Given the description of an element on the screen output the (x, y) to click on. 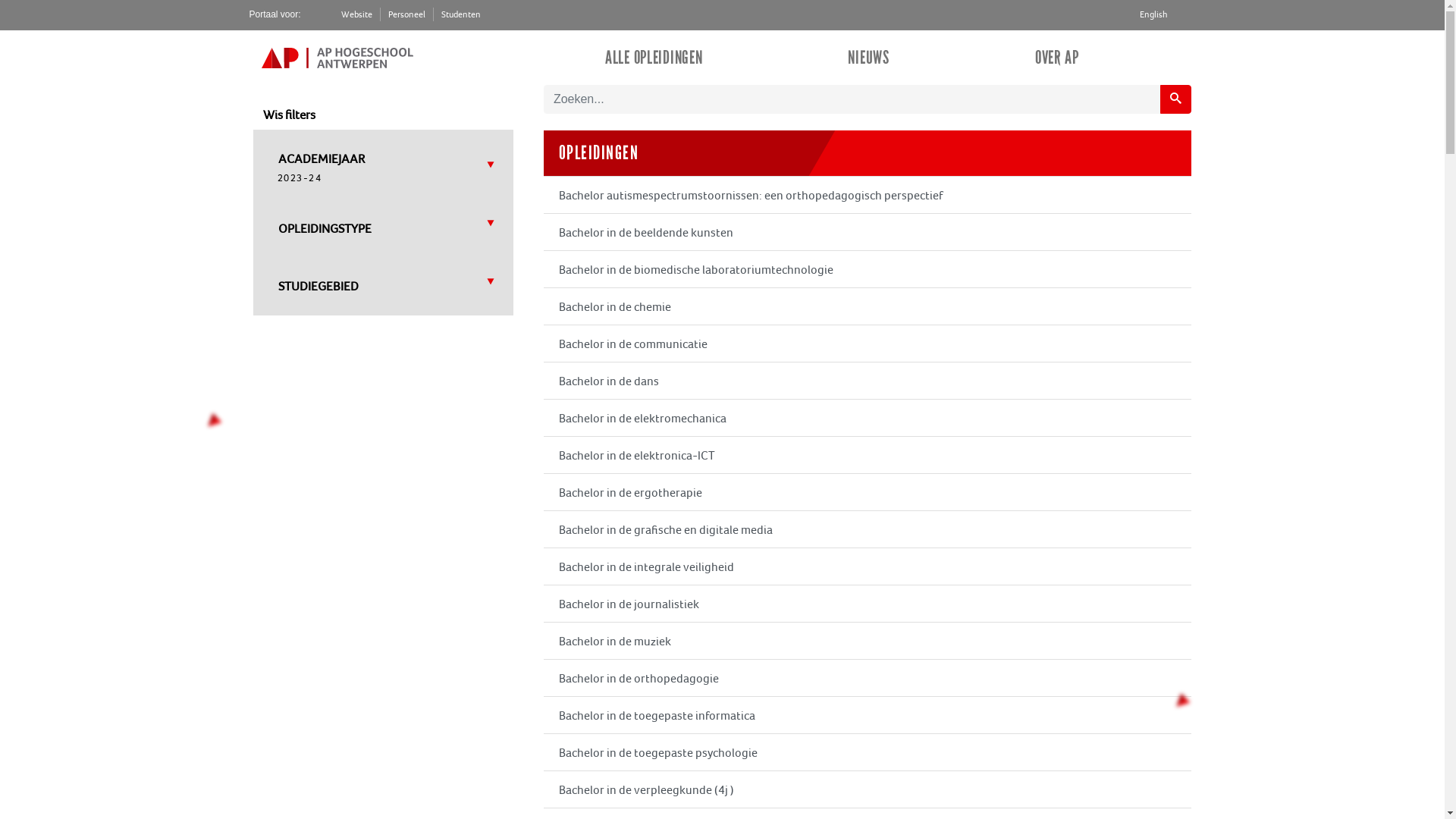
Bachelor in de elektromechanica Element type: text (867, 417)
Bachelor in de verpleegkunde (4j ) Element type: text (867, 789)
OVER AP Element type: text (1057, 58)
OPLEIDINGSTYPE Element type: text (324, 228)
Wis filters Element type: text (289, 115)
Bachelor in de integrale veiligheid Element type: text (867, 566)
Bachelor in de toegepaste informatica Element type: text (867, 715)
NIEUWS Element type: text (867, 58)
Bachelor in de muziek Element type: text (867, 640)
STUDIEGEBIED Element type: text (318, 286)
Website Element type: text (356, 14)
ALLE OPLEIDINGEN Element type: text (653, 58)
Bachelor in de toegepaste psychologie Element type: text (867, 752)
Studenten Element type: text (460, 14)
Bachelor in de communicatie Element type: text (867, 343)
Bachelor in de ergotherapie Element type: text (867, 492)
Bachelor in de dans Element type: text (867, 380)
Bachelor in de grafische en digitale media Element type: text (867, 529)
Bachelor in de biomedische laboratoriumtechnologie Element type: text (867, 269)
English Element type: text (1153, 14)
Personeel Element type: text (406, 14)
Bachelor in de chemie Element type: text (867, 306)
Bachelor in de elektronica-ICT Element type: text (867, 454)
Bachelor in de beeldende kunsten Element type: text (867, 232)
ACADEMIEJAAR Element type: text (321, 159)
Bachelor in de orthopedagogie Element type: text (867, 677)
Bachelor in de journalistiek Element type: text (867, 603)
